Given the description of an element on the screen output the (x, y) to click on. 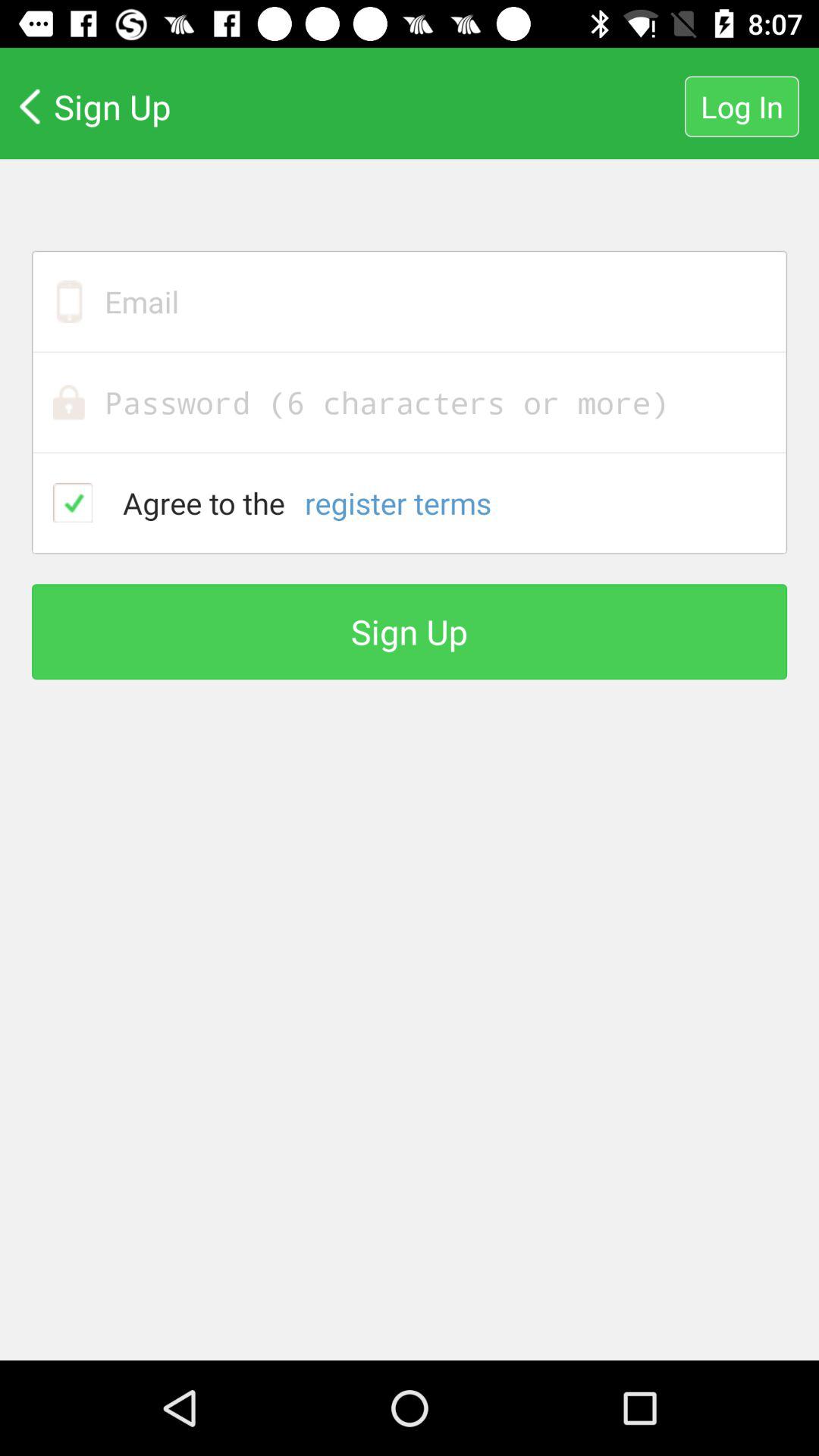
password (409, 402)
